Given the description of an element on the screen output the (x, y) to click on. 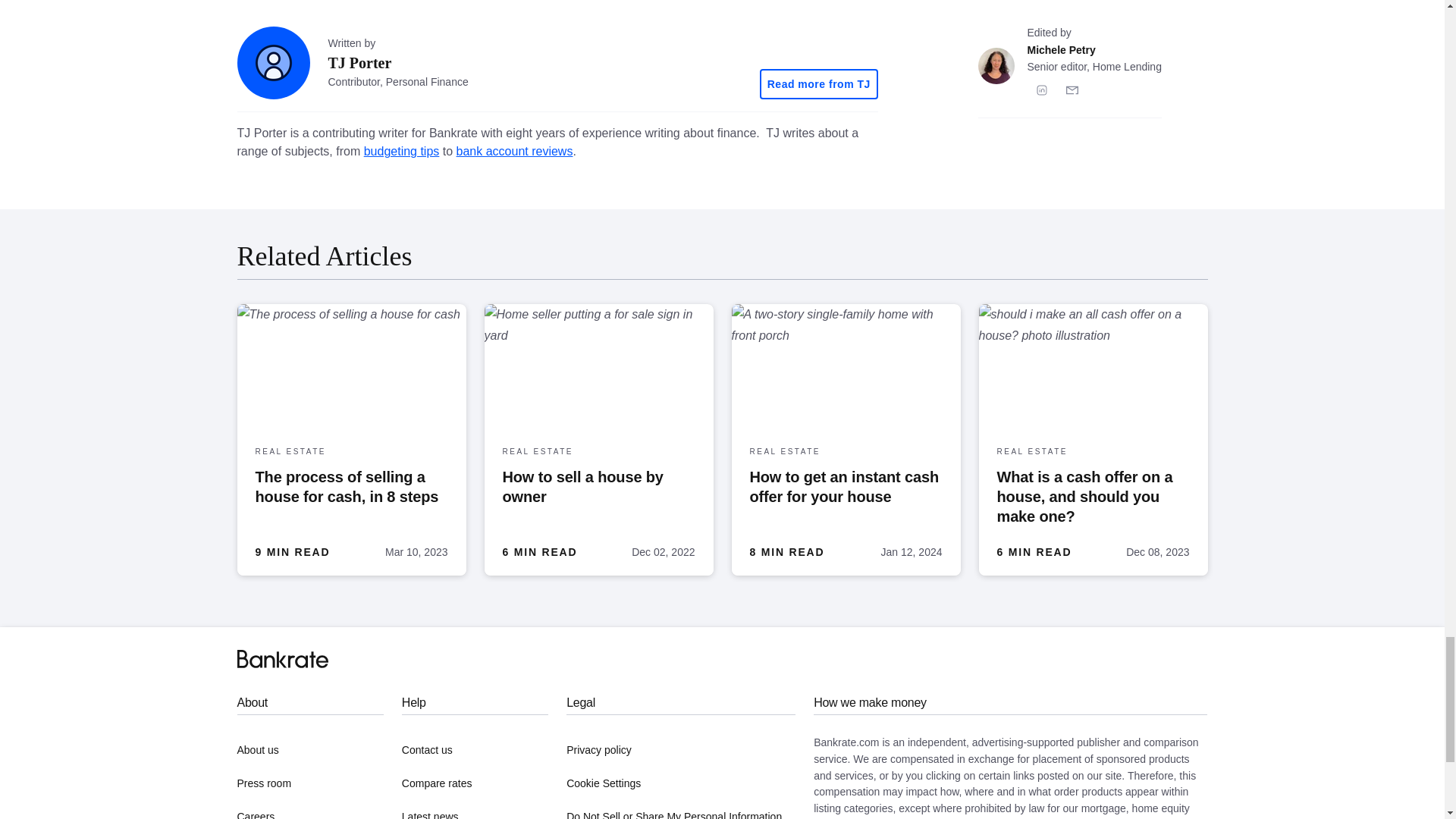
Bankrate (281, 659)
